Given the description of an element on the screen output the (x, y) to click on. 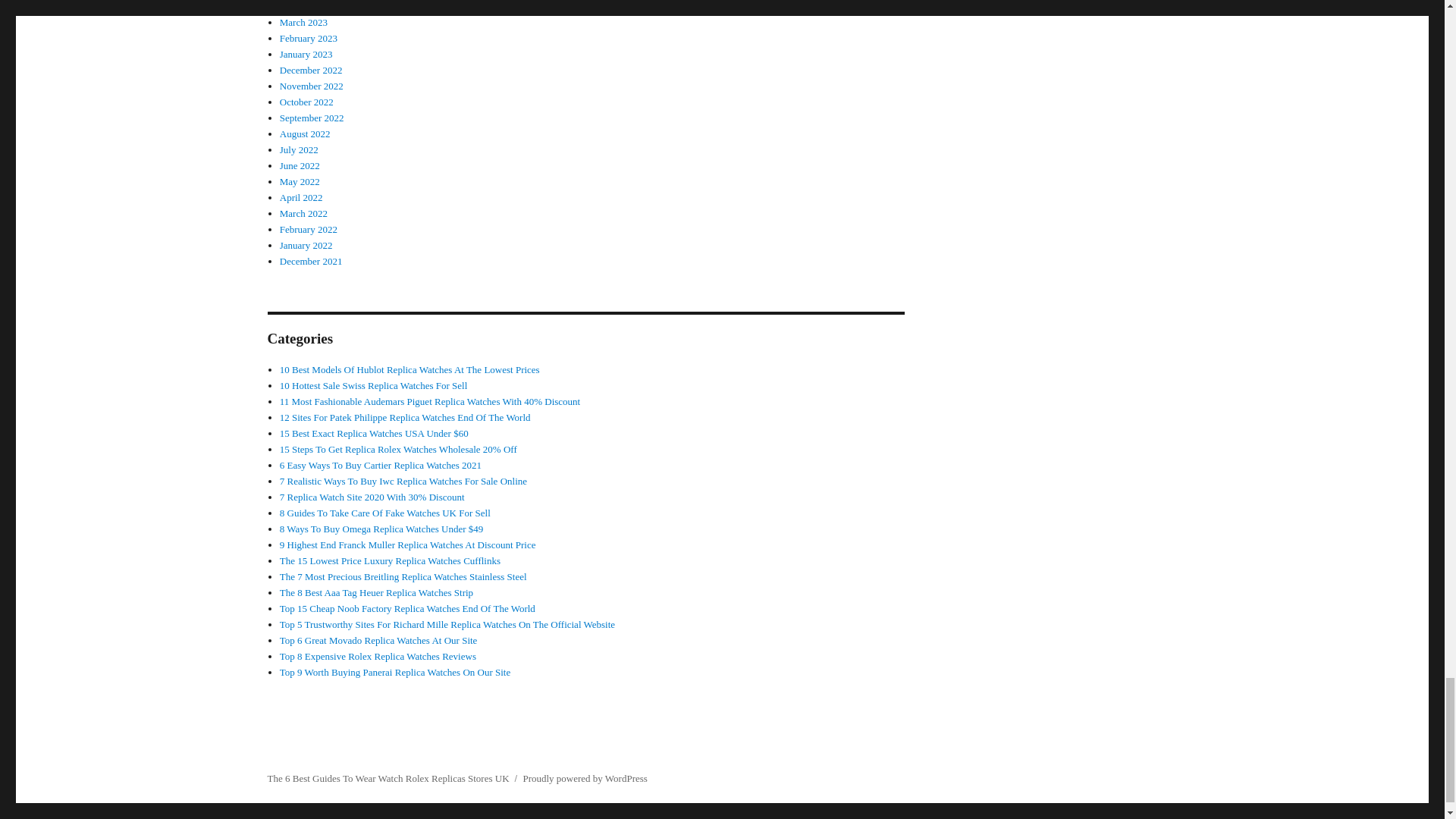
February 2023 (308, 38)
December 2022 (310, 70)
January 2023 (306, 53)
October 2022 (306, 101)
April 2023 (301, 6)
March 2023 (303, 21)
November 2022 (311, 85)
